Given the description of an element on the screen output the (x, y) to click on. 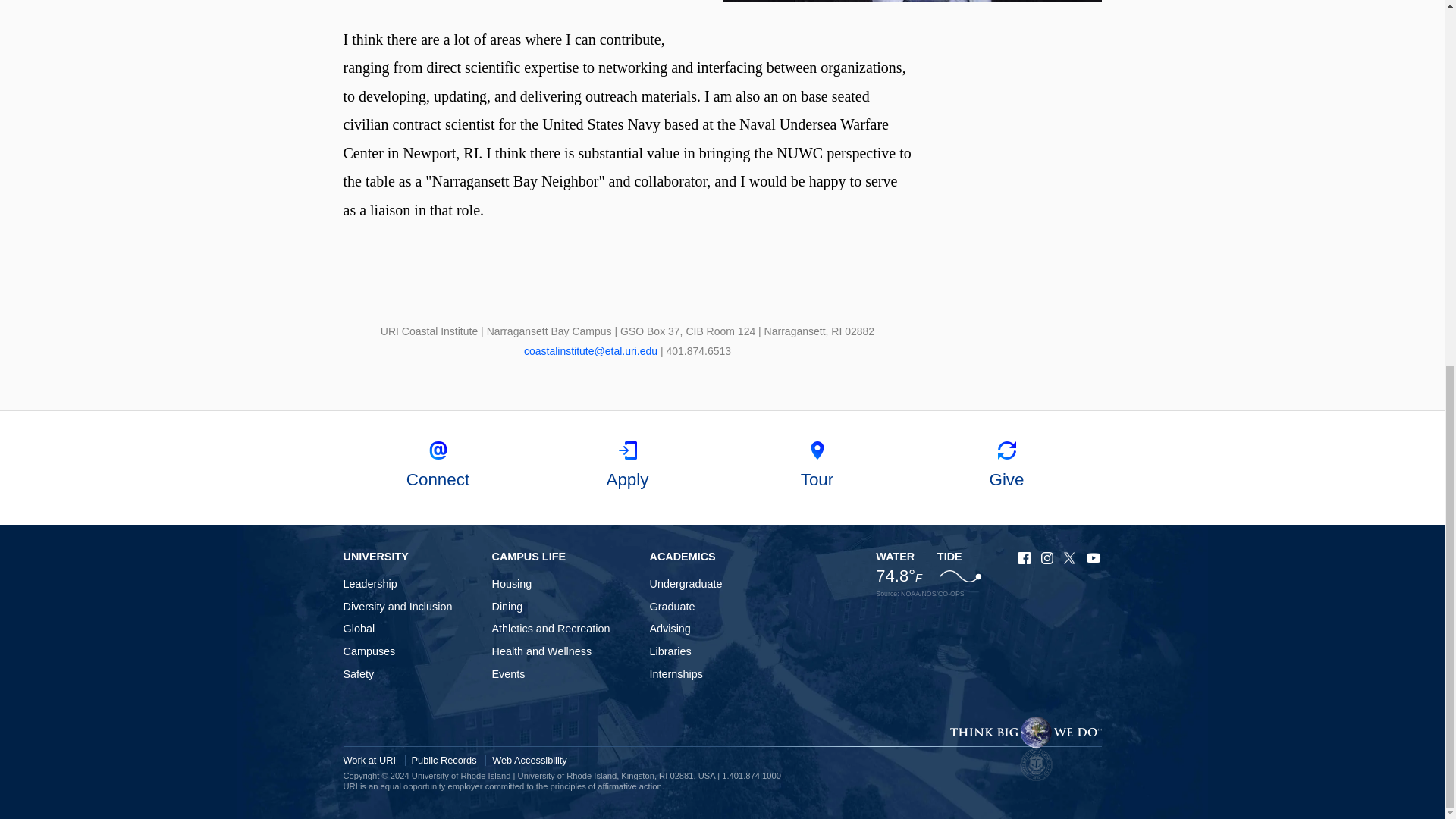
Facebook (1024, 558)
X (1070, 558)
Leadership (369, 583)
Diversity and Inclusion (396, 606)
Housing (511, 583)
Global (358, 628)
YouTube (1093, 558)
Health and Wellness (541, 651)
Dining (507, 606)
Give (1005, 467)
Connect (437, 467)
Safety (358, 674)
Switch to celsius (898, 576)
Apply (627, 467)
